Given the description of an element on the screen output the (x, y) to click on. 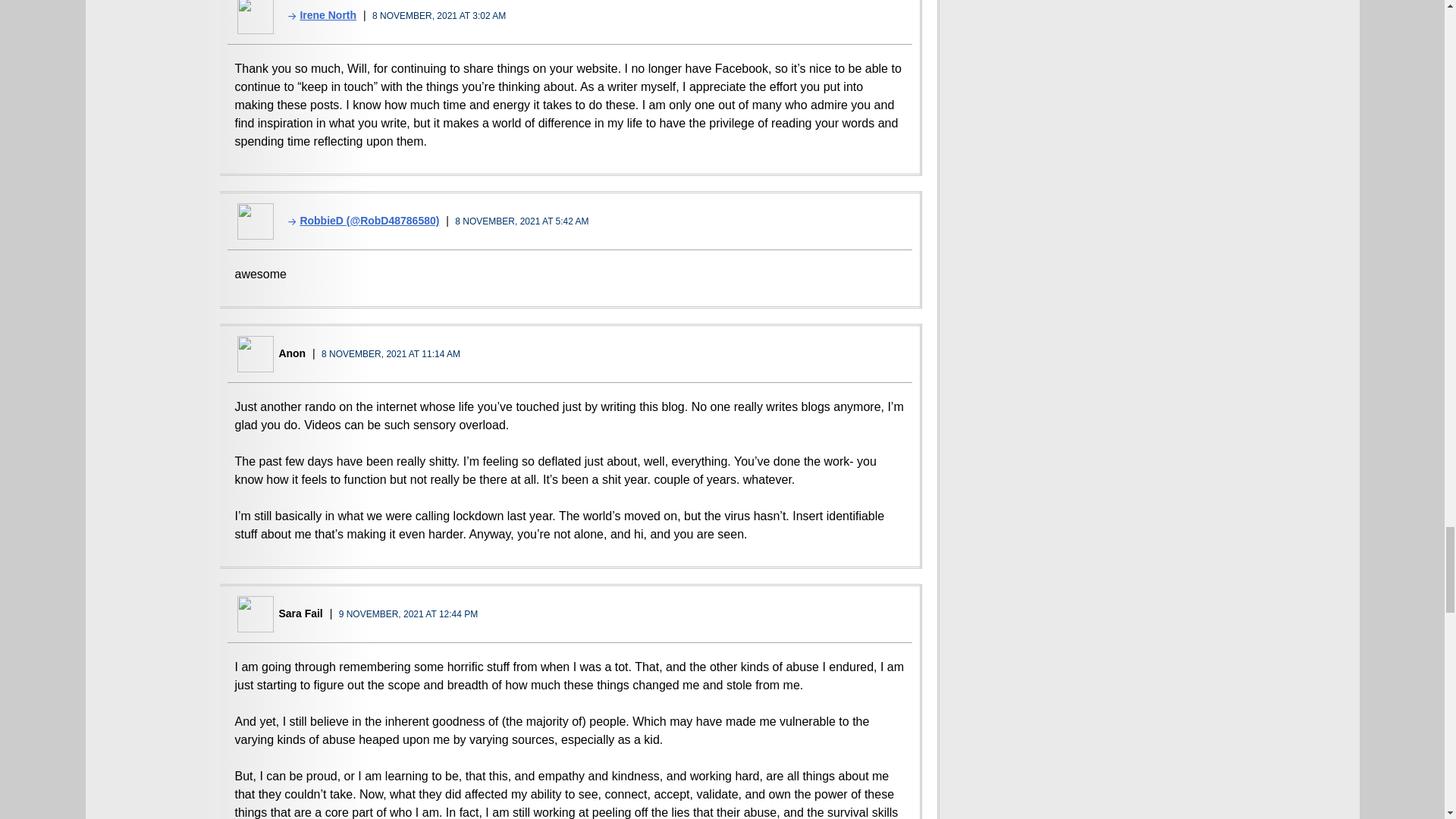
9 NOVEMBER, 2021 AT 12:44 PM (409, 614)
8 NOVEMBER, 2021 AT 11:14 AM (390, 353)
8 NOVEMBER, 2021 AT 5:42 AM (521, 221)
8 NOVEMBER, 2021 AT 3:02 AM (438, 15)
Irene North (317, 15)
